Given the description of an element on the screen output the (x, y) to click on. 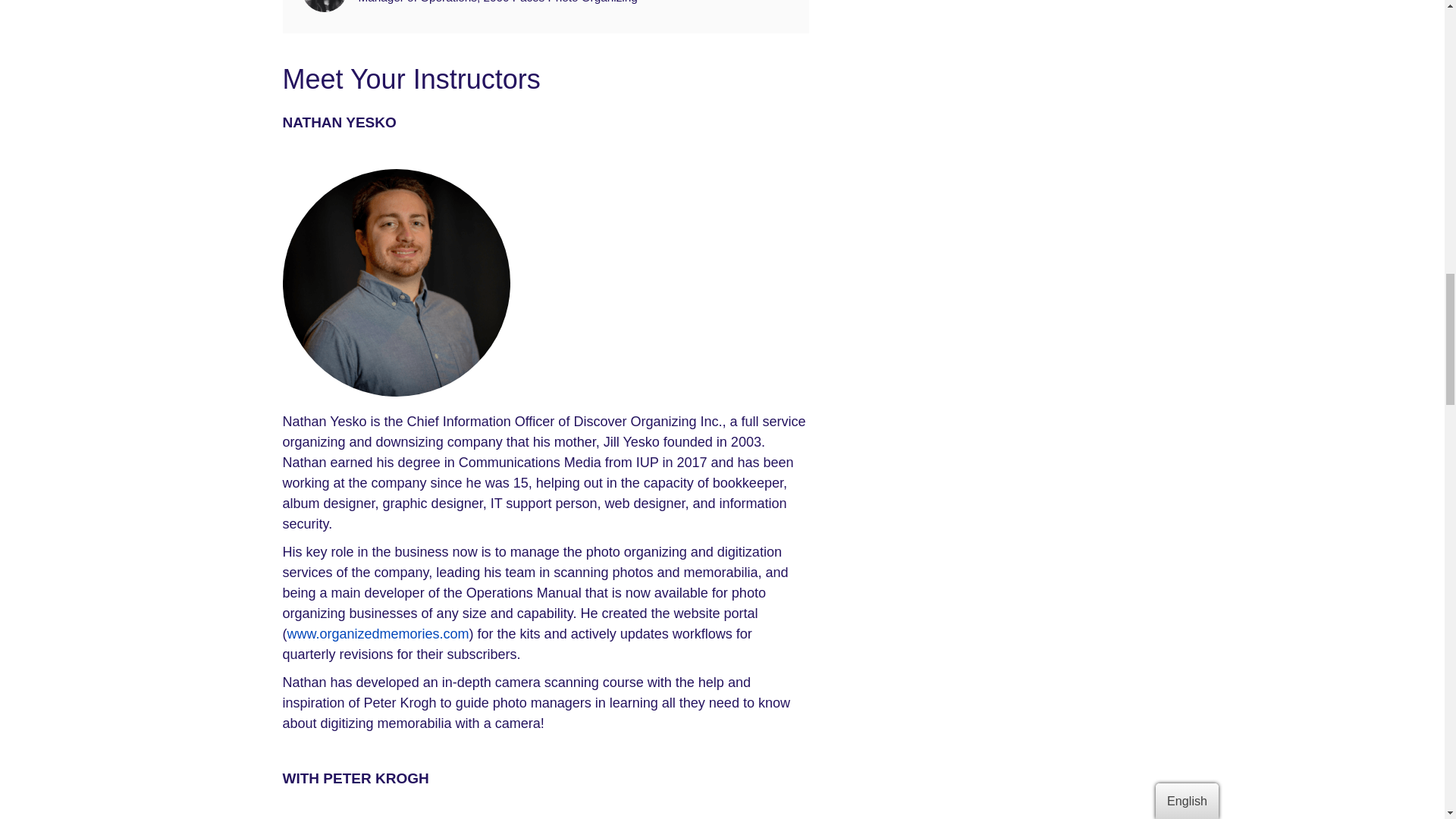
www.organizedmemories.com (377, 633)
